Given the description of an element on the screen output the (x, y) to click on. 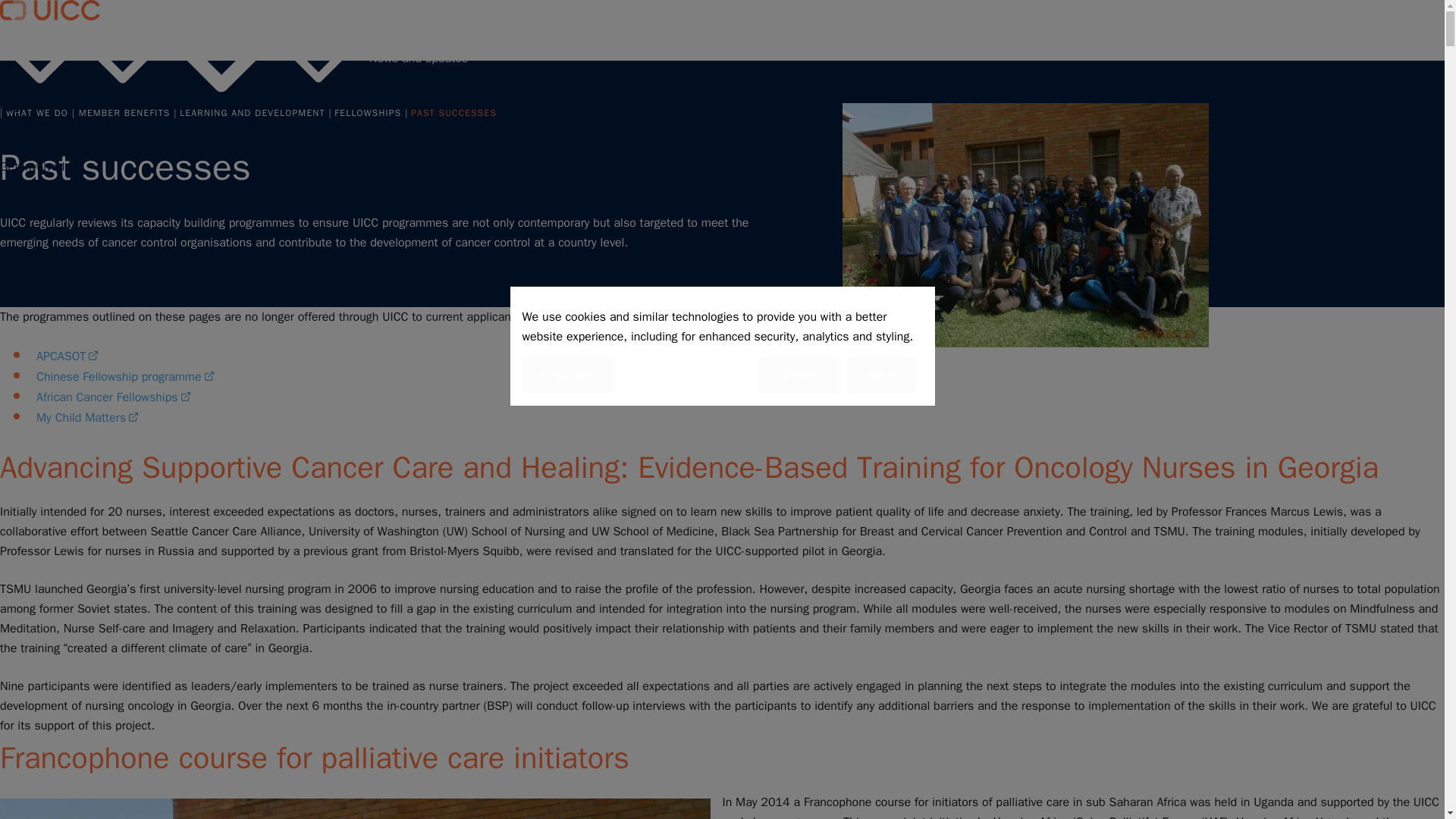
APCASOT Training Grants (68, 355)
Chinese Fellowship Programme (126, 376)
African Cancer Fellowships (114, 396)
